Given the description of an element on the screen output the (x, y) to click on. 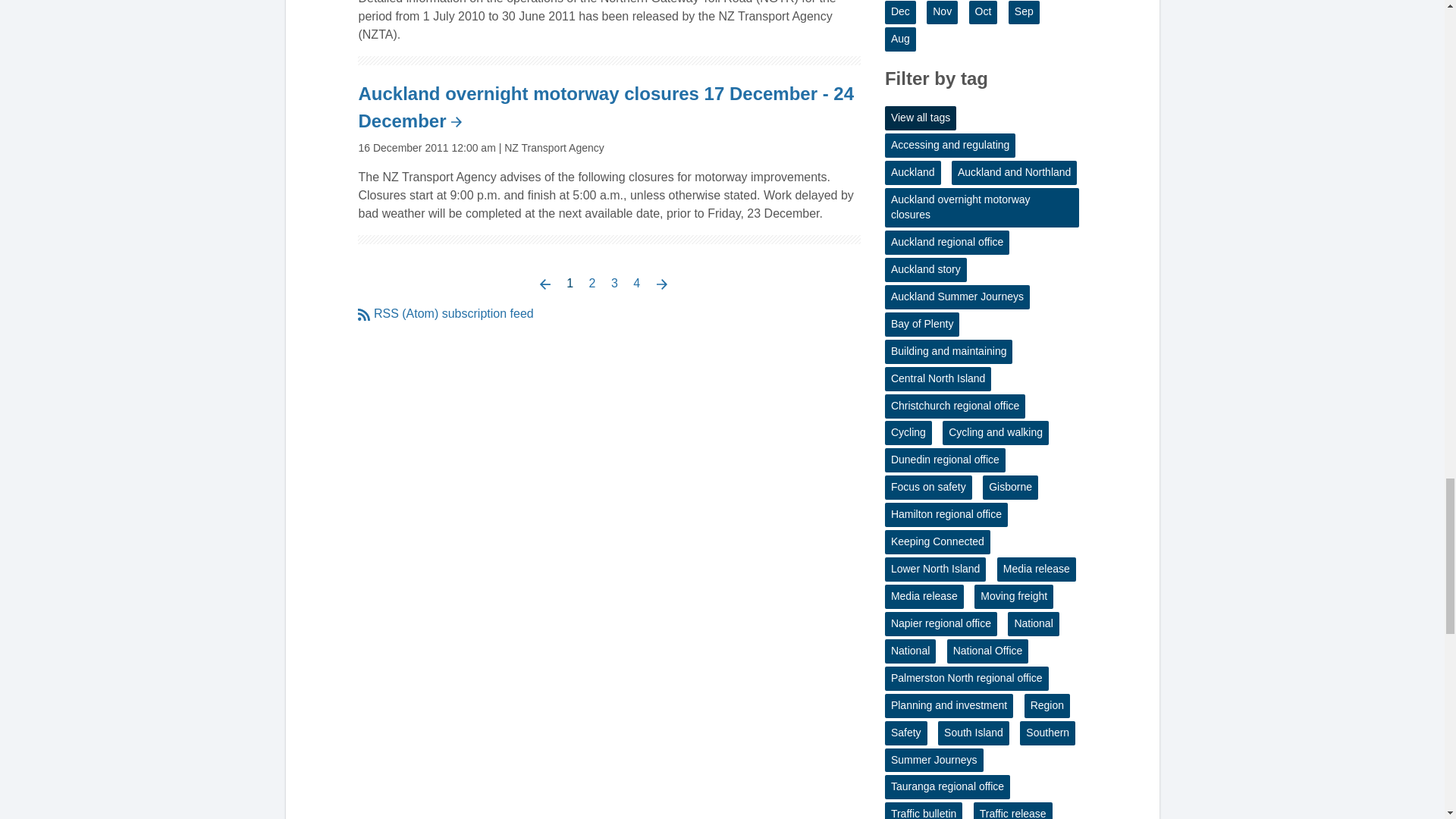
View items tagged Auckland Summer Journeys (957, 297)
View all tags (920, 118)
View items tagged Focus on safety (928, 487)
View items tagged Dunedin regional office (945, 459)
View items tagged Auckland overnight motorway closures (981, 207)
View items tagged Auckland regional office (947, 242)
View items tagged Auckland story (925, 269)
View items tagged Auckland (912, 172)
View items tagged Keeping Connected (937, 541)
View items tagged Hamilton regional office (946, 514)
